Given the description of an element on the screen output the (x, y) to click on. 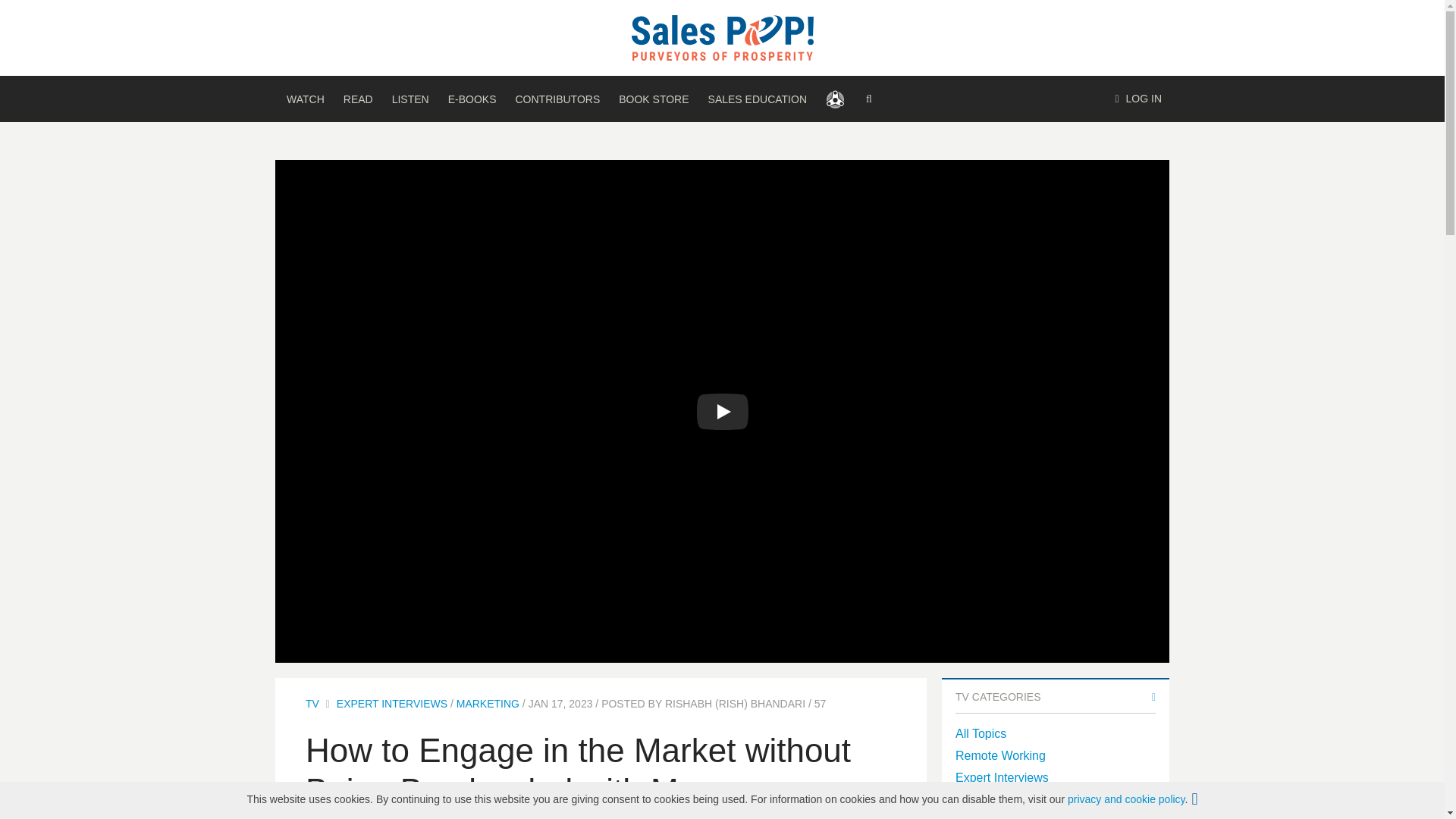
Play (721, 411)
EXPERT INTERVIEWS (391, 703)
WATCH (305, 99)
E-BOOKS (472, 99)
CONTRIBUTORS (556, 99)
LISTEN (410, 99)
MARKETING (488, 703)
SALES EDUCATION (756, 99)
READ (358, 99)
TV (311, 703)
